Given the description of an element on the screen output the (x, y) to click on. 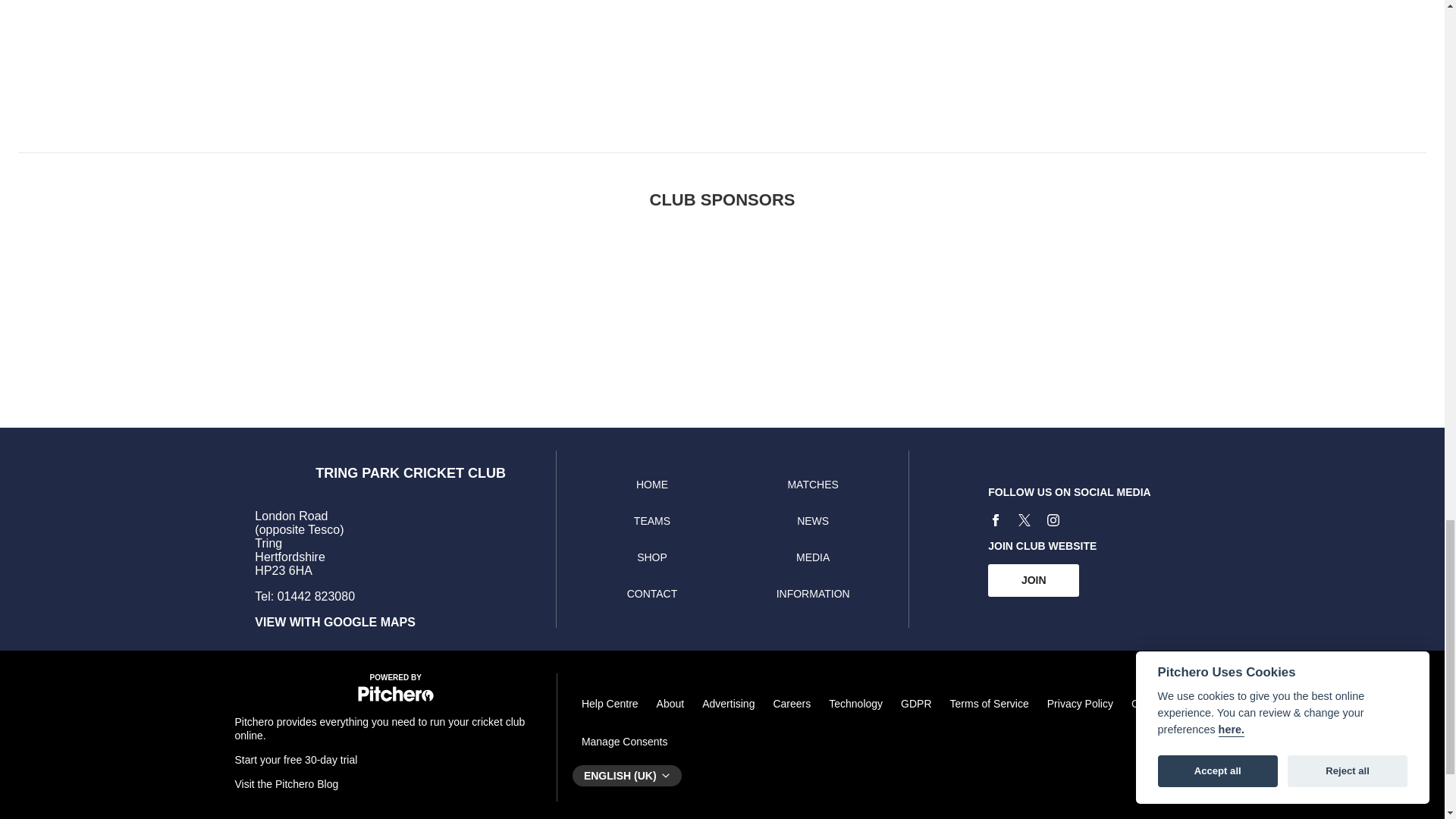
Pitchero (395, 697)
Website Sponsor - Specialist Cars (406, 300)
Club Sponsor - Tring Brewery (563, 300)
Club Sponsor - Silverspade Landscapes (1194, 300)
Club Sponsor - Dayla  (879, 300)
Proud to be a Clubmark Club - ECB (1036, 300)
